Given the description of an element on the screen output the (x, y) to click on. 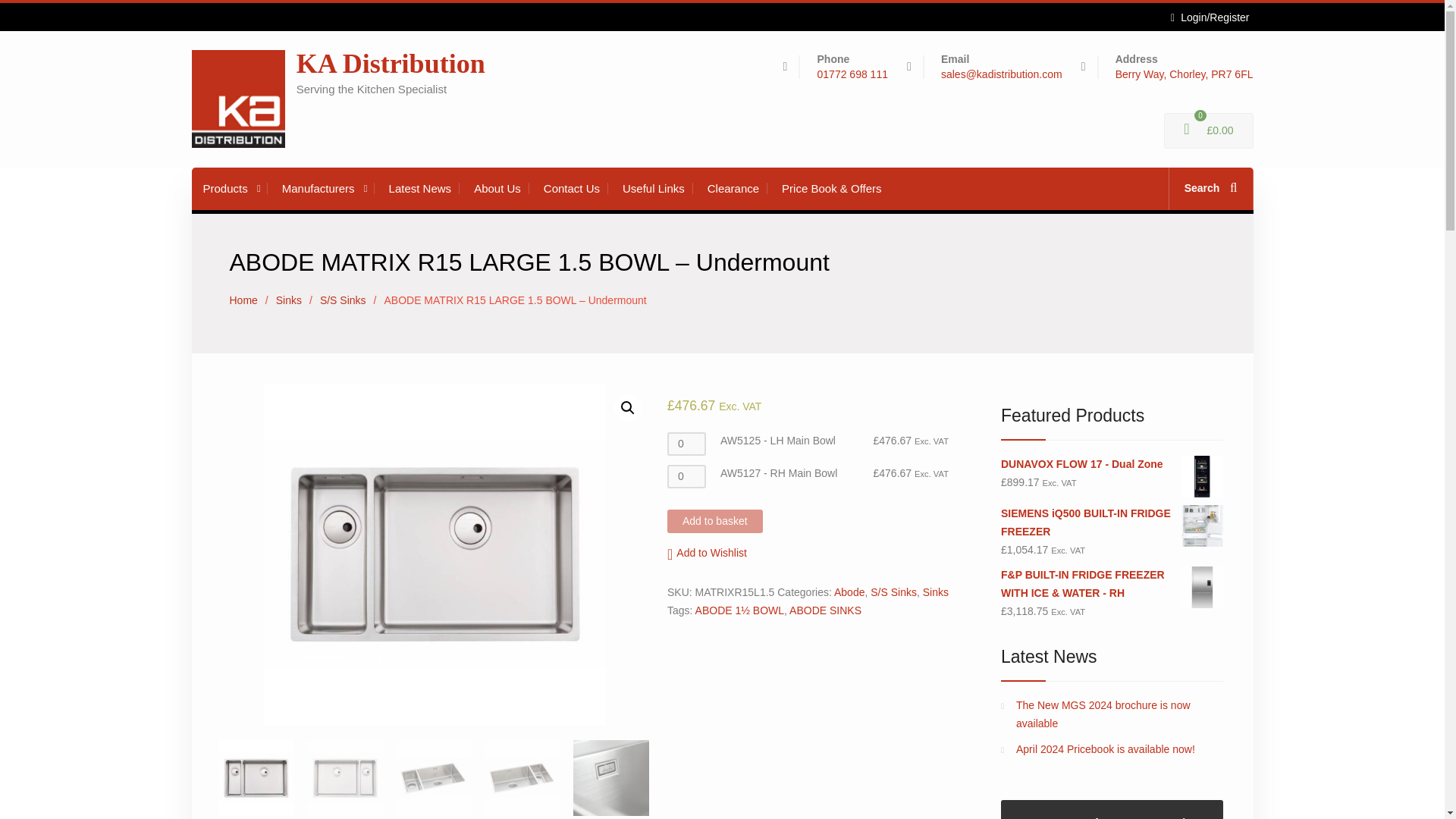
AW5127 (434, 554)
